Given the description of an element on the screen output the (x, y) to click on. 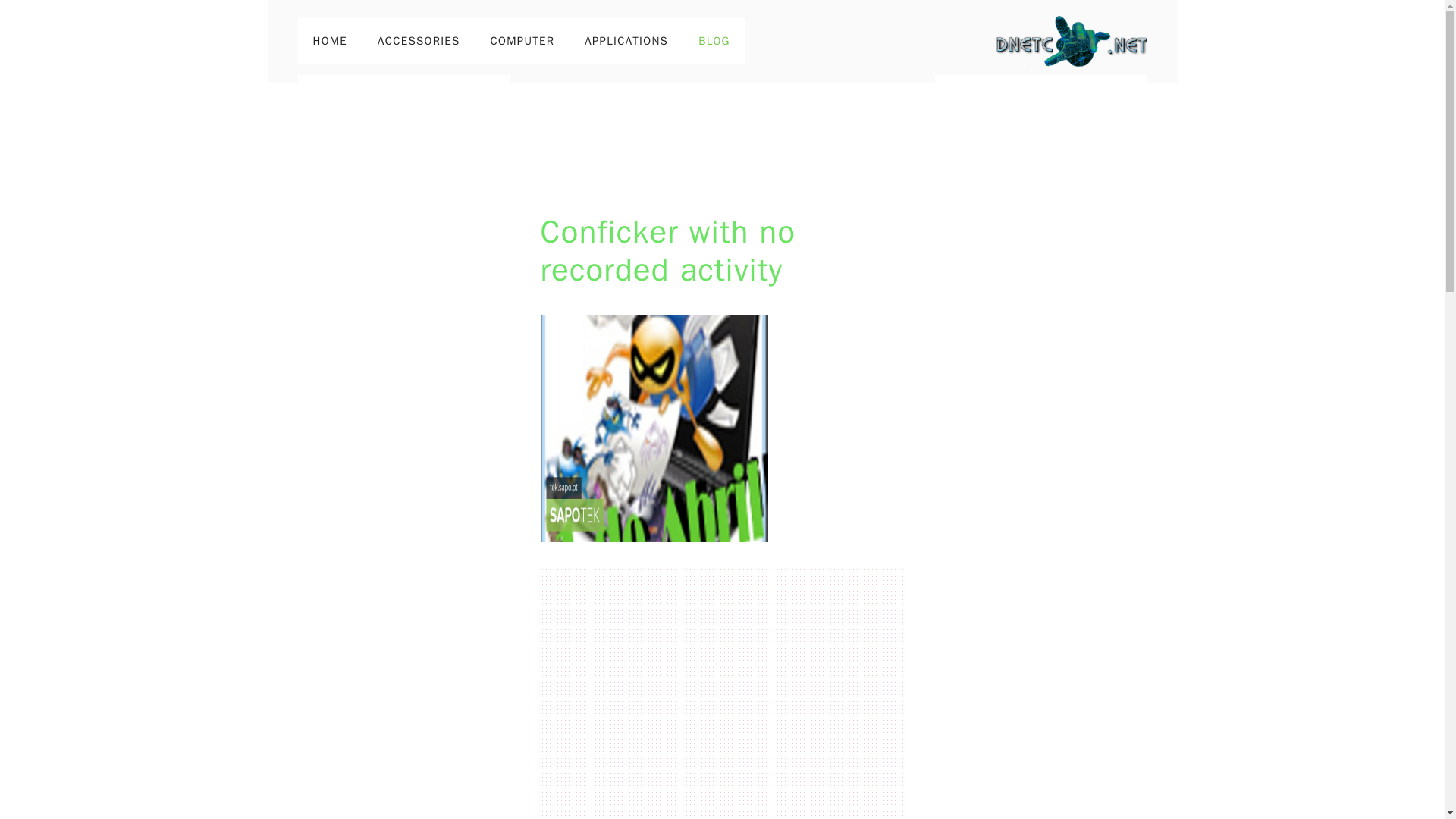
BLOG (713, 40)
HOME (329, 40)
ACCESSORIES (419, 40)
COMPUTER (523, 40)
APPLICATIONS (625, 40)
